Given the description of an element on the screen output the (x, y) to click on. 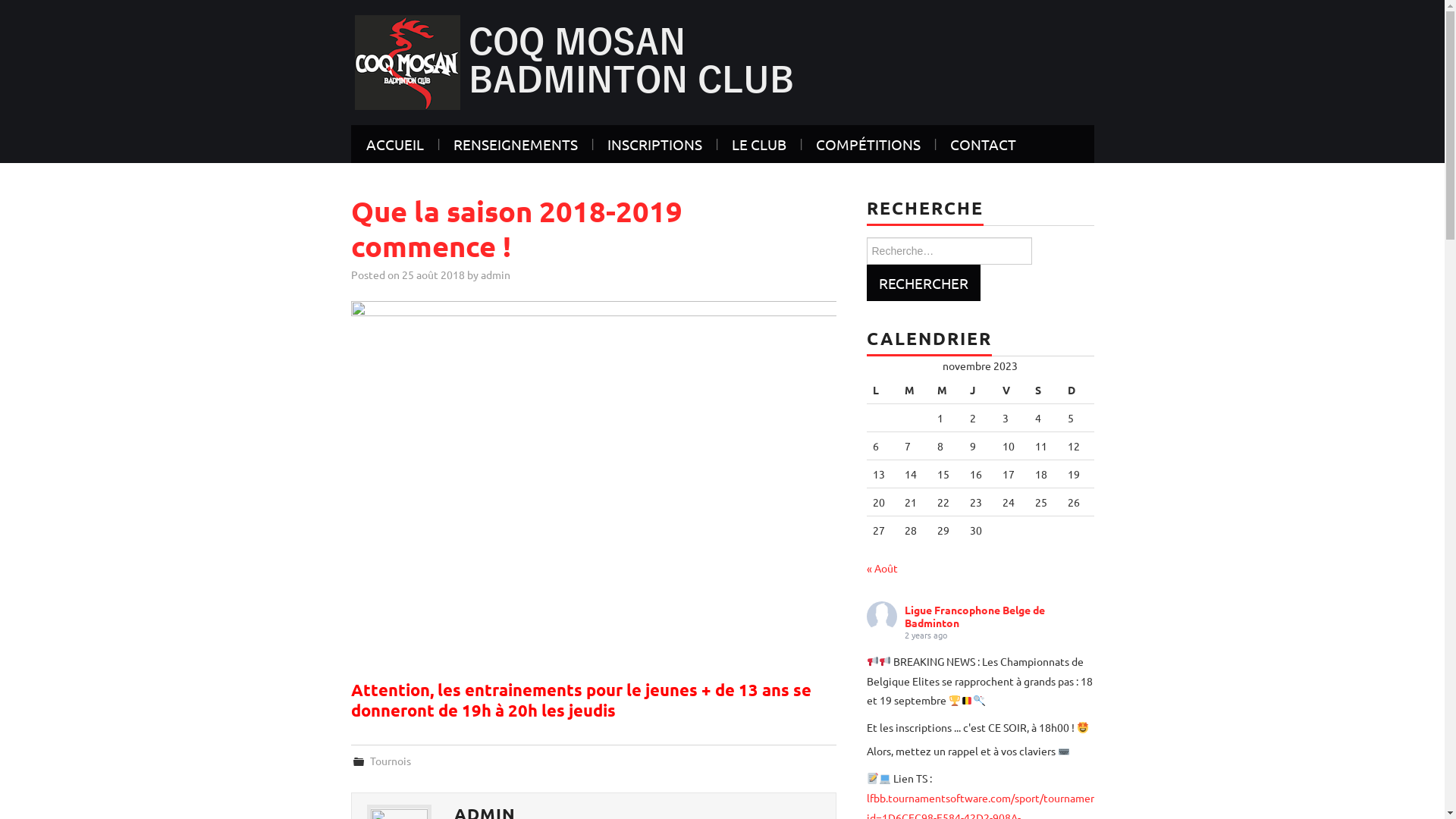
LE CLUB Element type: text (757, 144)
CONTACT Element type: text (982, 144)
INSCRIPTIONS Element type: text (653, 144)
ACCUEIL Element type: text (394, 144)
Coq Mosan Badminton Club asbl Element type: hover (577, 60)
RENSEIGNEMENTS Element type: text (515, 144)
admin Element type: text (495, 274)
Rechercher Element type: text (922, 282)
Tournois Element type: text (390, 760)
Ligue Francophone Belge de Badminton Element type: text (973, 615)
